Given the description of an element on the screen output the (x, y) to click on. 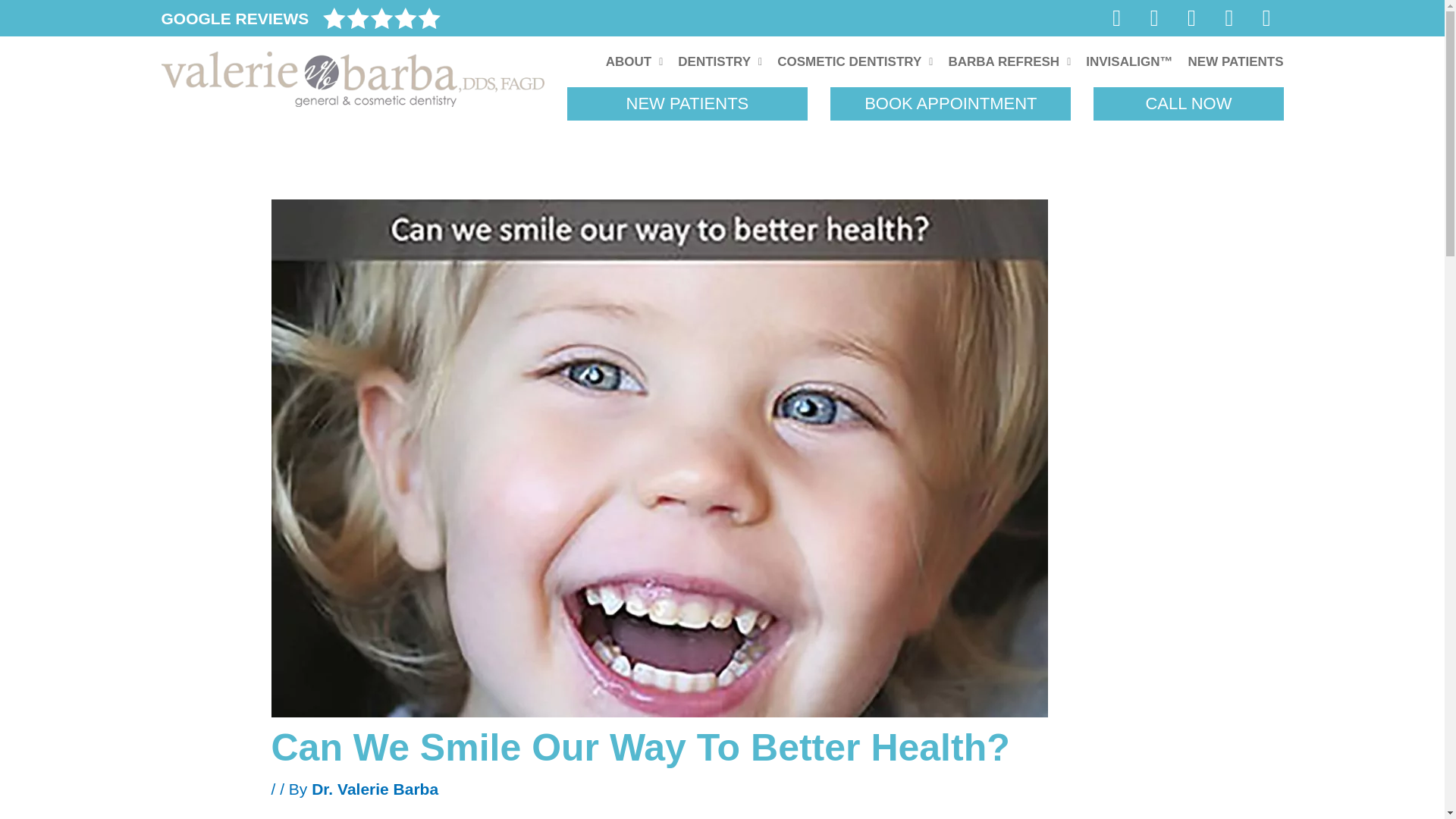
Facebook-square (1117, 18)
GOOGLE REVIEWS (234, 18)
View all posts by Dr. Valerie Barba (374, 788)
ABOUT (634, 61)
Twitter (1191, 18)
Instagram (1229, 18)
Youtube (1153, 18)
Blogger-b (1265, 18)
